Given the description of an element on the screen output the (x, y) to click on. 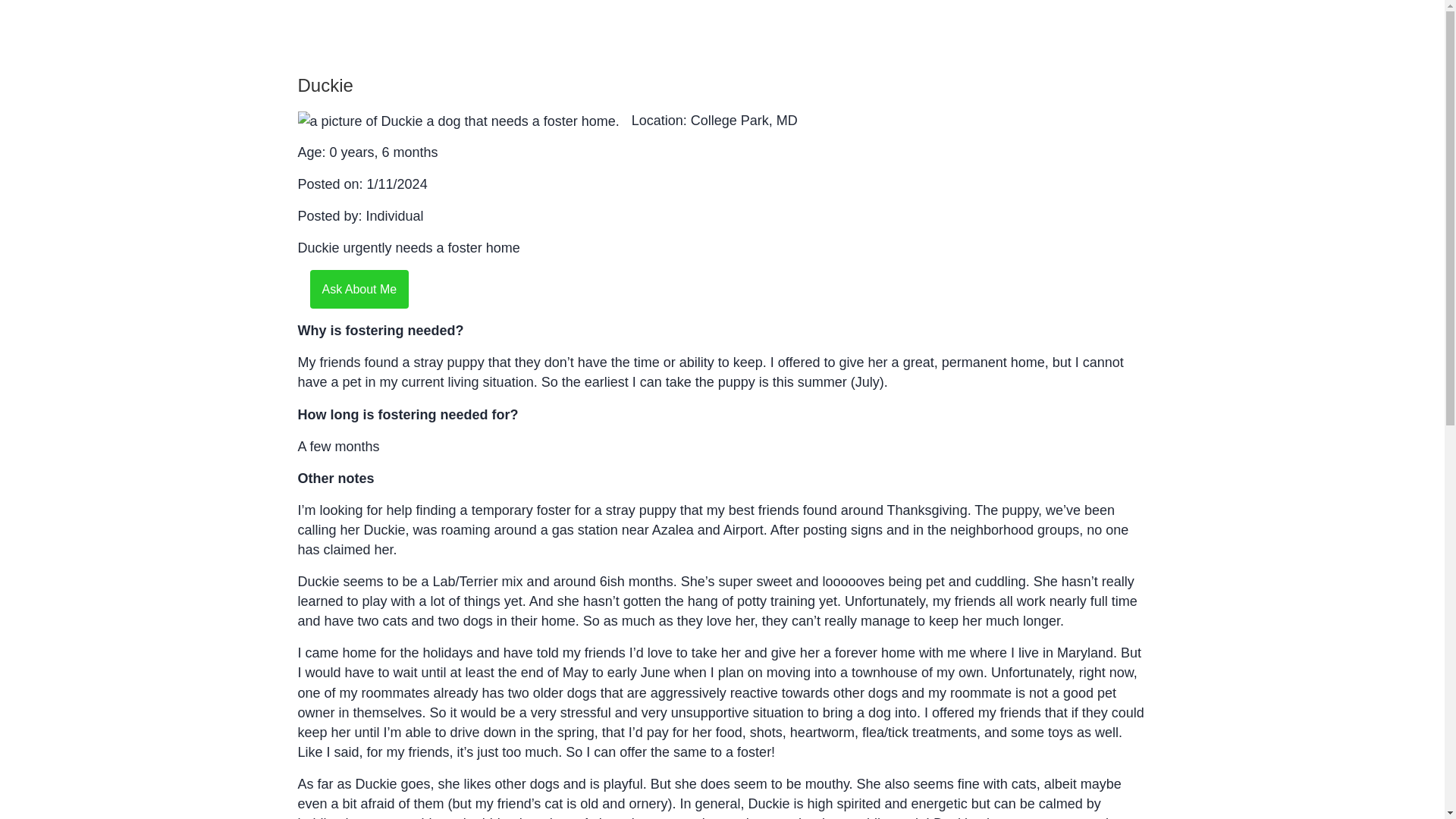
Ask About Me (358, 288)
Ask About Me (358, 289)
